Given the description of an element on the screen output the (x, y) to click on. 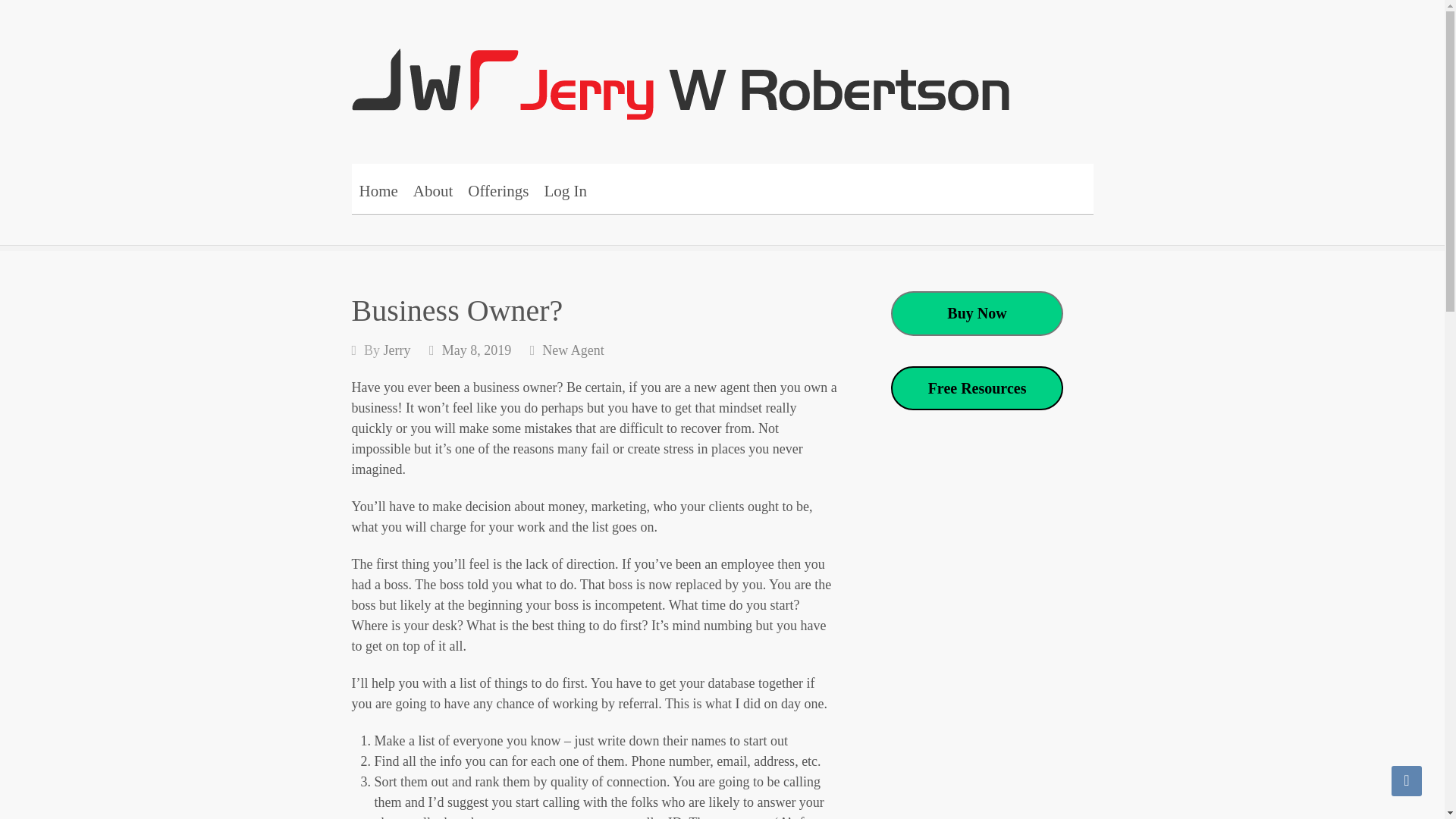
New Agent (572, 350)
Jerry W Robertson (471, 73)
Offerings (497, 188)
May 8, 2019 (477, 350)
Jerry (397, 350)
Log In (564, 188)
Jerry W Robertson (471, 73)
9:00 am (477, 350)
Home (379, 188)
About (433, 188)
